Given the description of an element on the screen output the (x, y) to click on. 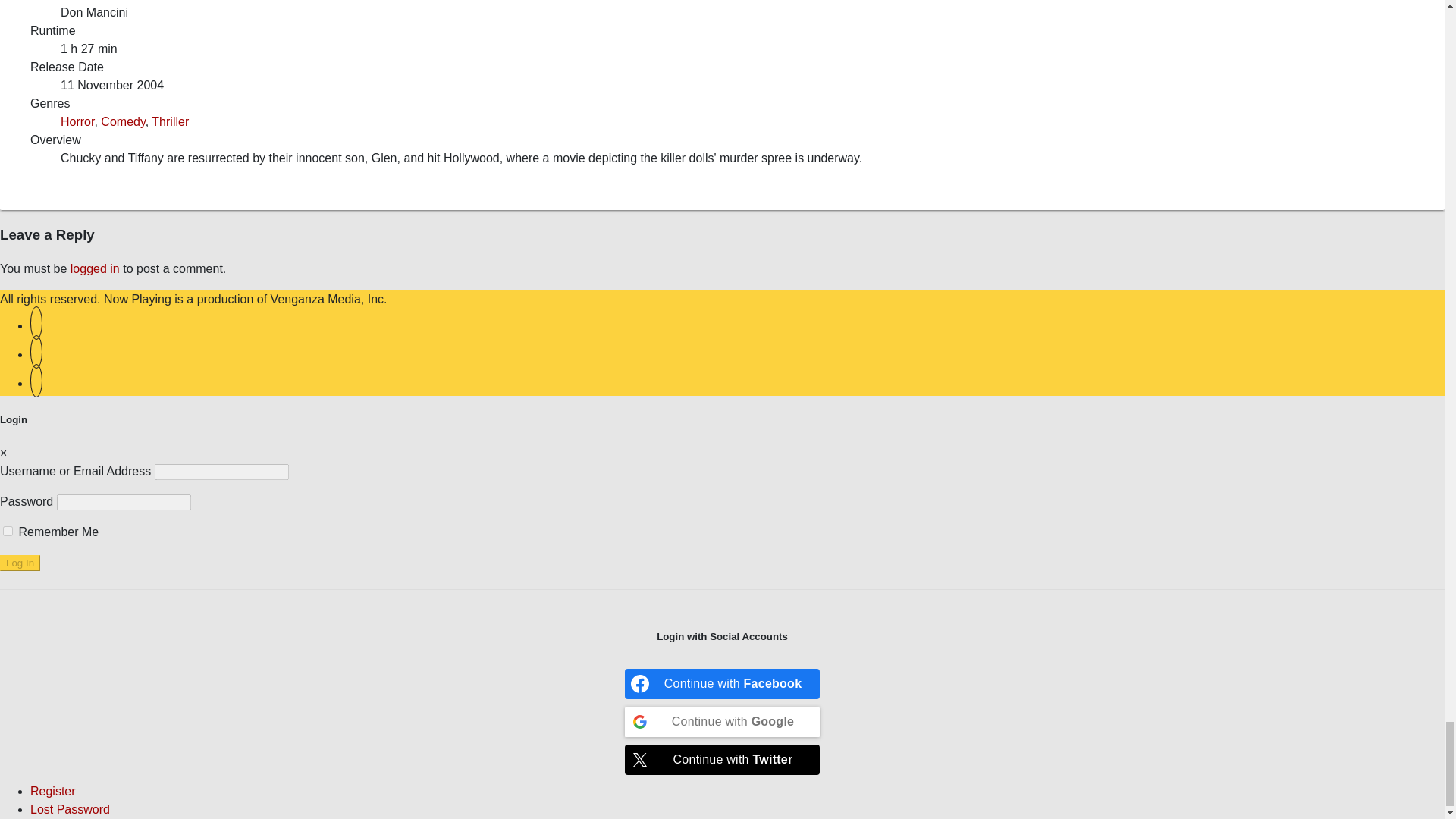
Log In (20, 562)
Log In (20, 562)
More movies from Thriller (170, 121)
Comedy (122, 121)
Continue with Facebook (722, 684)
Thriller (170, 121)
Horror (77, 121)
More movies from Horror (77, 121)
logged in (94, 268)
More movies from Comedy (122, 121)
forever (7, 531)
